Given the description of an element on the screen output the (x, y) to click on. 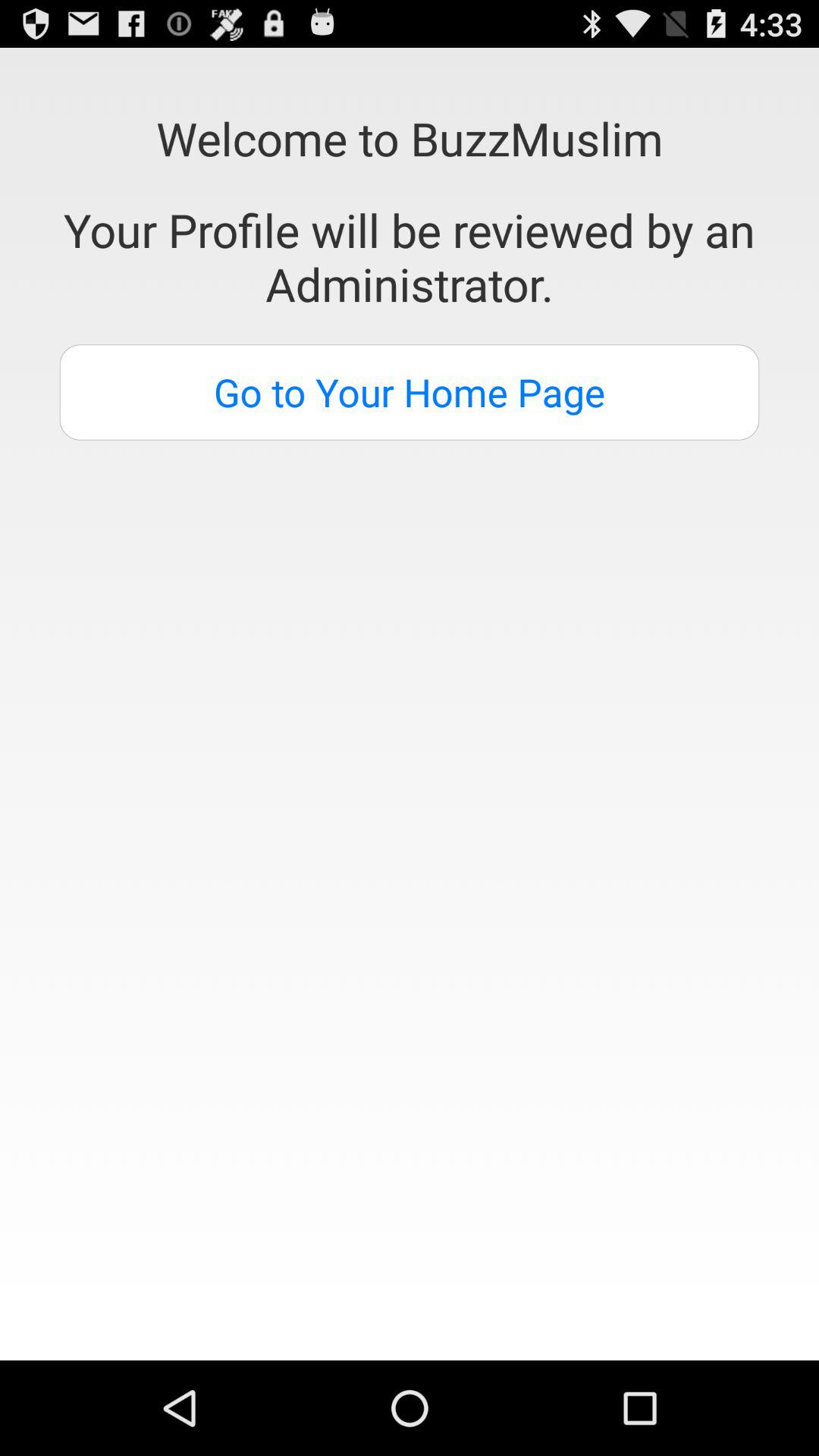
scroll until go to your button (409, 392)
